Given the description of an element on the screen output the (x, y) to click on. 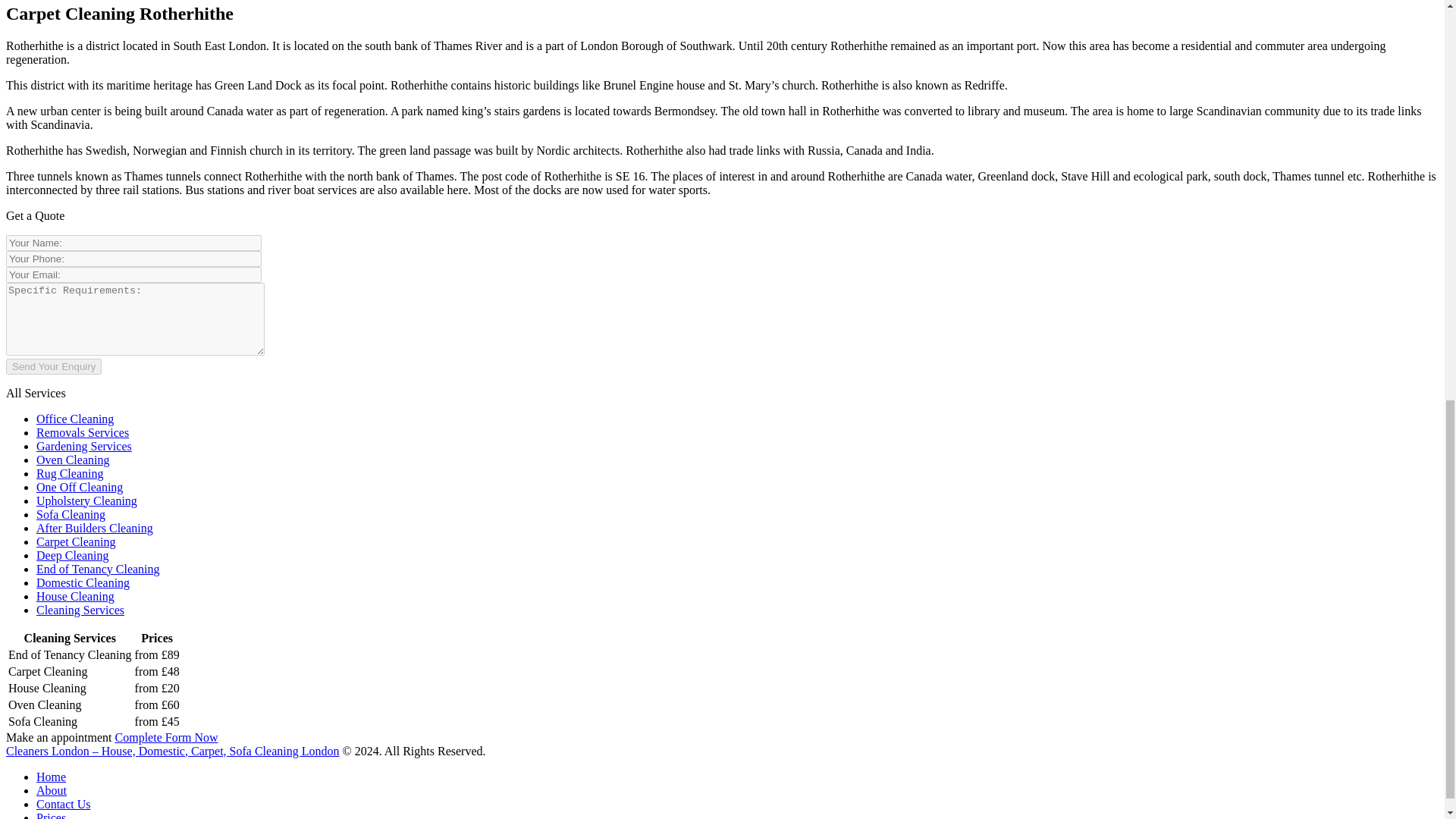
Removals Services (82, 431)
Sofa Cleaning (70, 513)
About (51, 789)
Contact Us (63, 803)
Send Your Enquiry (53, 365)
Domestic Cleaning (82, 582)
Oven Cleaning (72, 459)
Gardening Services (84, 445)
Rug Cleaning (69, 472)
End of Tenancy Cleaning (98, 568)
